Given the description of an element on the screen output the (x, y) to click on. 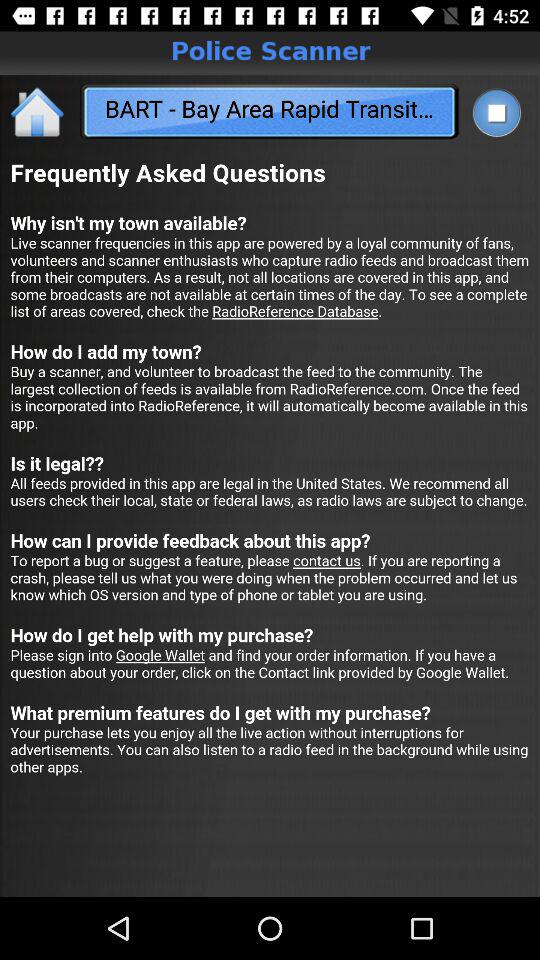
pause (496, 111)
